Given the description of an element on the screen output the (x, y) to click on. 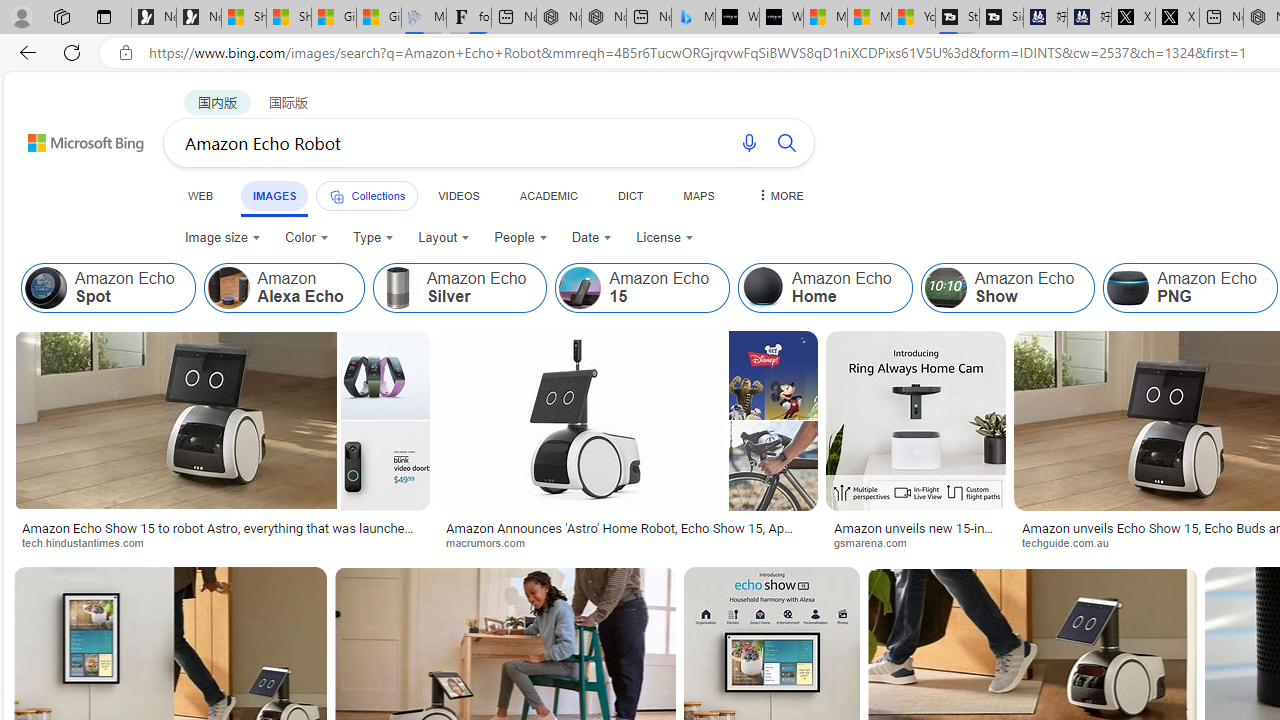
What's the best AI voice generator? - voice.ai (781, 17)
Image size (222, 237)
Amazon Echo Home (824, 287)
Type (372, 237)
Image result for Amazon Echo Robot (915, 421)
Amazon Echo Spot (107, 287)
techguide.com.au (1071, 541)
tech.hindustantimes.com (221, 542)
Color (305, 237)
Gilma and Hector both pose tropical trouble for Hawaii (378, 17)
VIDEOS (458, 195)
